Given the description of an element on the screen output the (x, y) to click on. 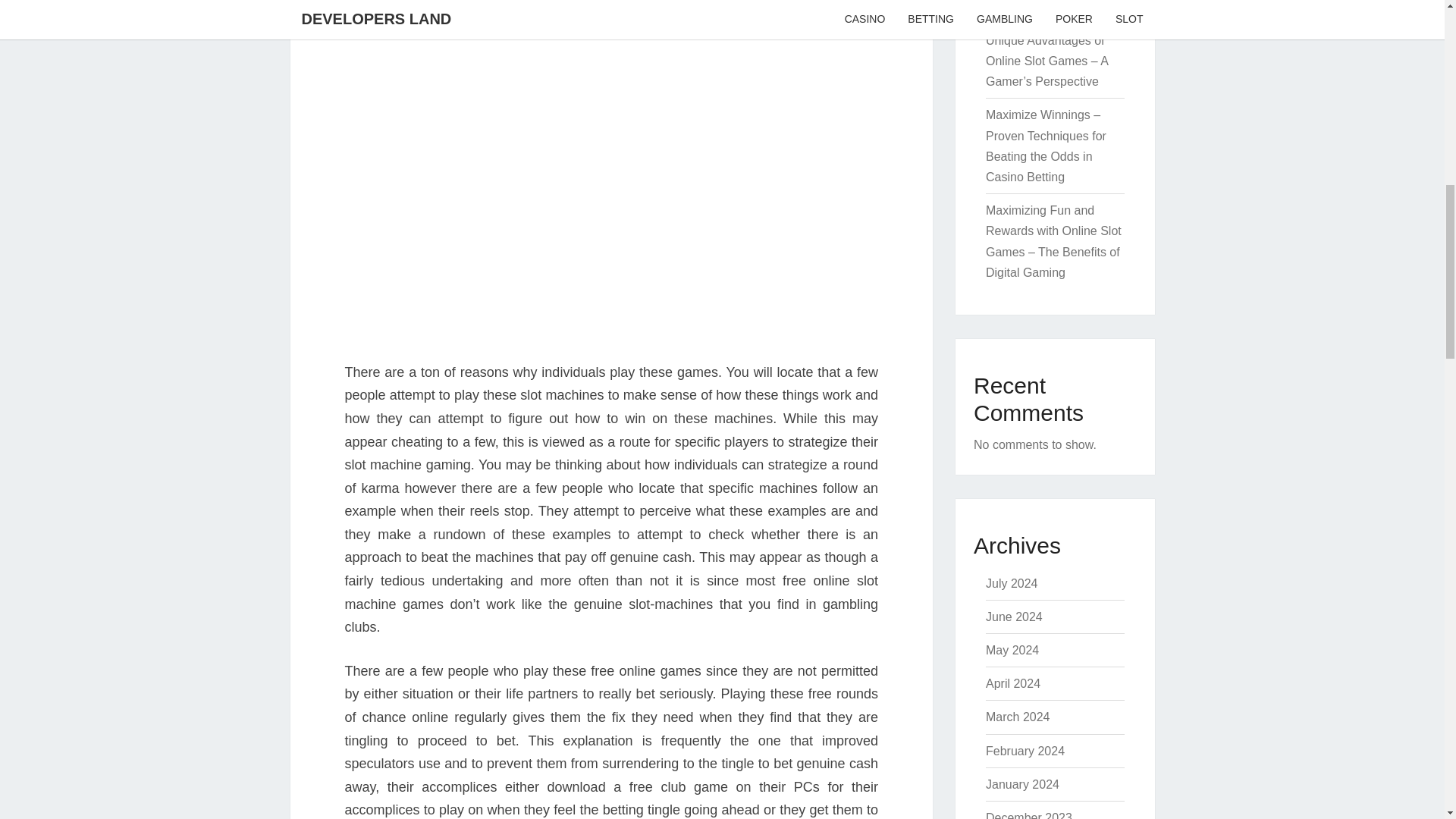
May 2024 (1012, 649)
February 2024 (1024, 750)
January 2024 (1022, 784)
July 2024 (1011, 583)
April 2024 (1013, 683)
June 2024 (1013, 616)
December 2023 (1028, 815)
March 2024 (1017, 716)
